Given the description of an element on the screen output the (x, y) to click on. 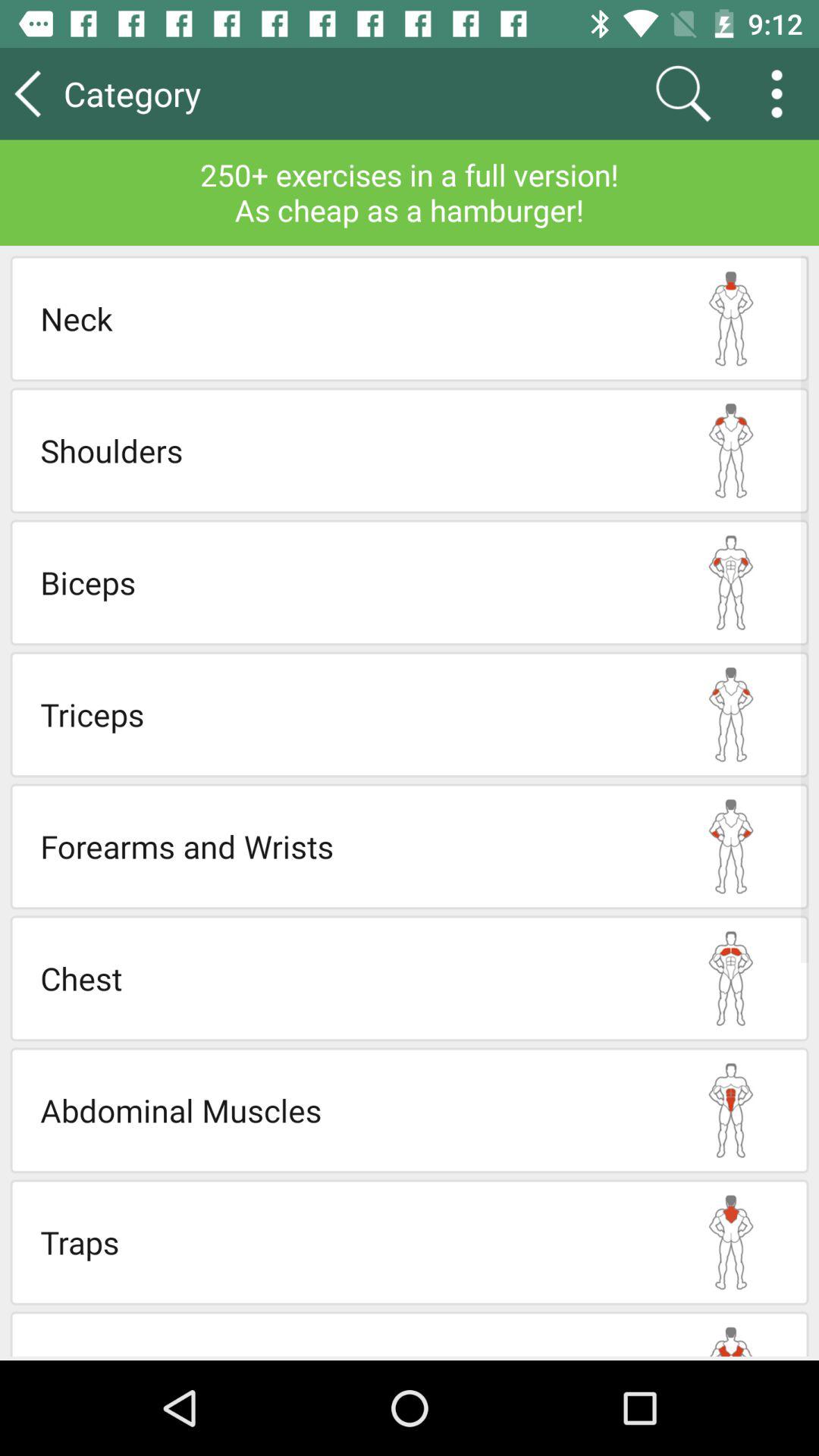
click the icon above 250 exercises in (682, 93)
